Given the description of an element on the screen output the (x, y) to click on. 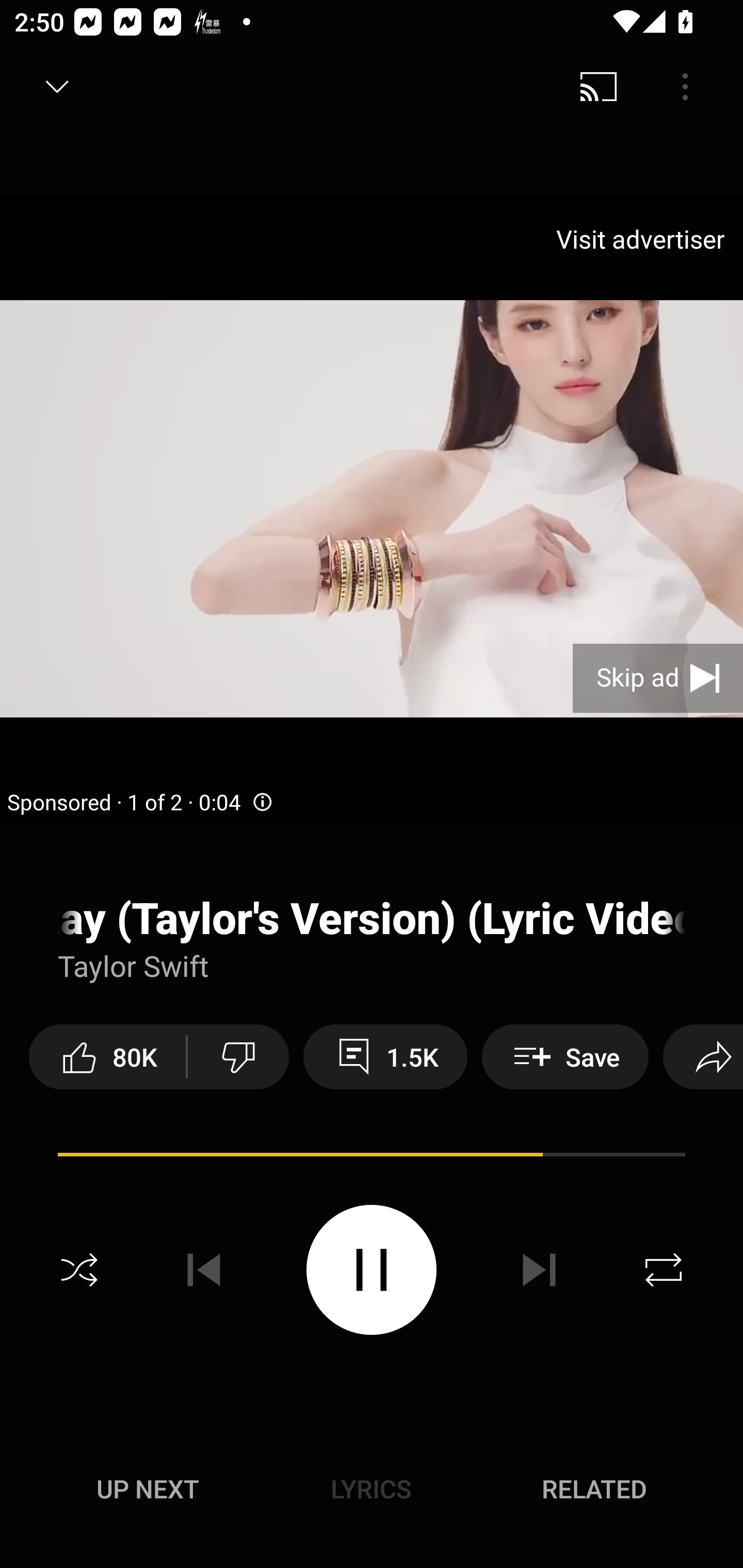
Minimize (57, 86)
Cast. Disconnected (598, 86)
Search (692, 86)
Visit advertiser (644, 239)
Skip ad (657, 678)
Sponsored · 1 of 2 · 0:04 (140, 802)
Action menu (371, 956)
80K like this video along with 80,658 other people (106, 1056)
Dislike (238, 1056)
1.5K View 1,522 comments (385, 1056)
Save Save to playlist (565, 1056)
Share (702, 1056)
Pause video (371, 1269)
Shuffle off (79, 1269)
Previous track disabled (203, 1269)
Next track disabled (538, 1269)
Repeat off (663, 1269)
Up next UP NEXT Lyrics LYRICS Related RELATED (371, 1491)
Lyrics LYRICS (370, 1488)
Related RELATED (594, 1488)
